Given the description of an element on the screen output the (x, y) to click on. 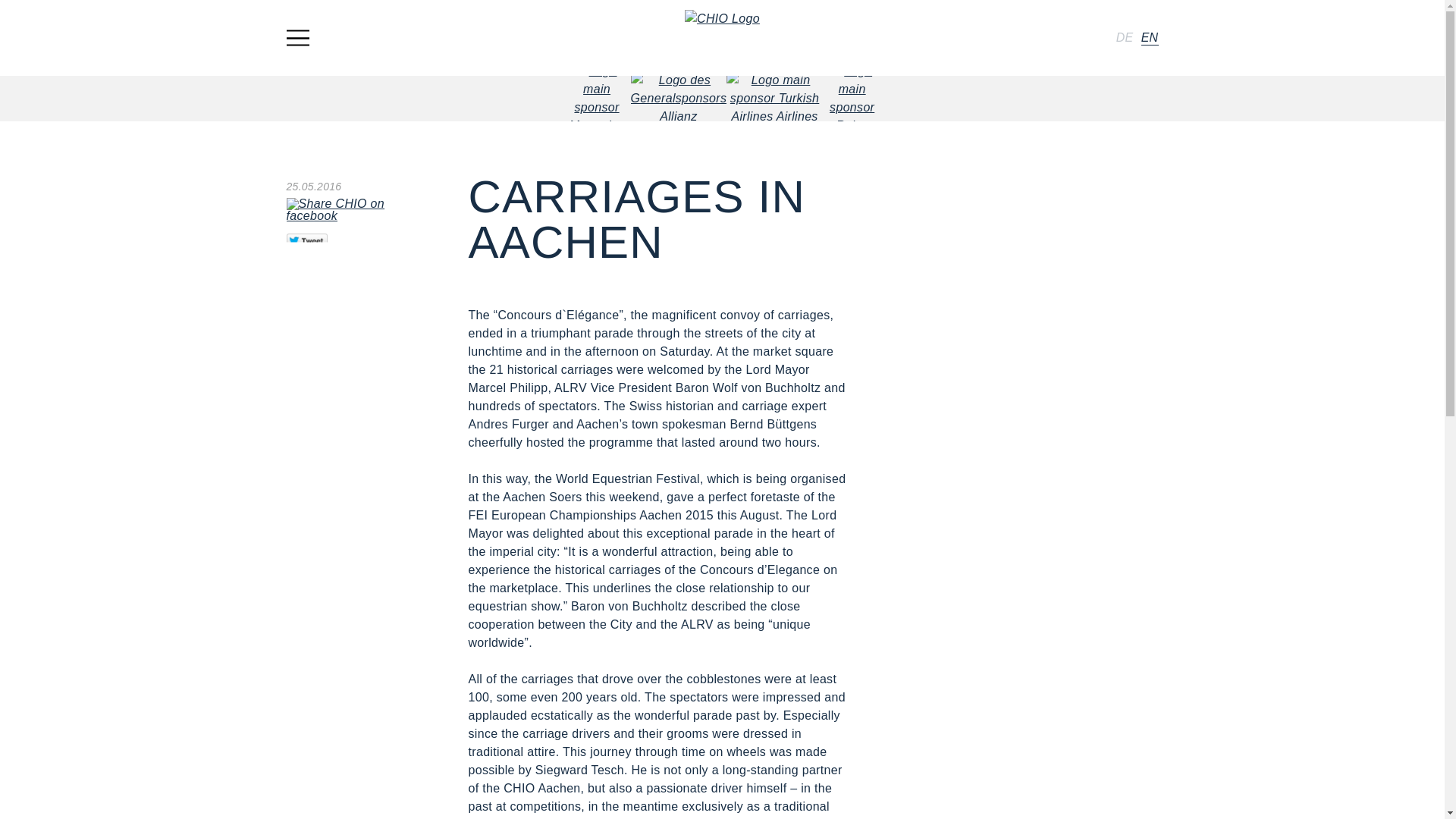
DE (1125, 37)
en (1149, 37)
de (1125, 37)
EN (1149, 37)
Homepage (722, 37)
